Given the description of an element on the screen output the (x, y) to click on. 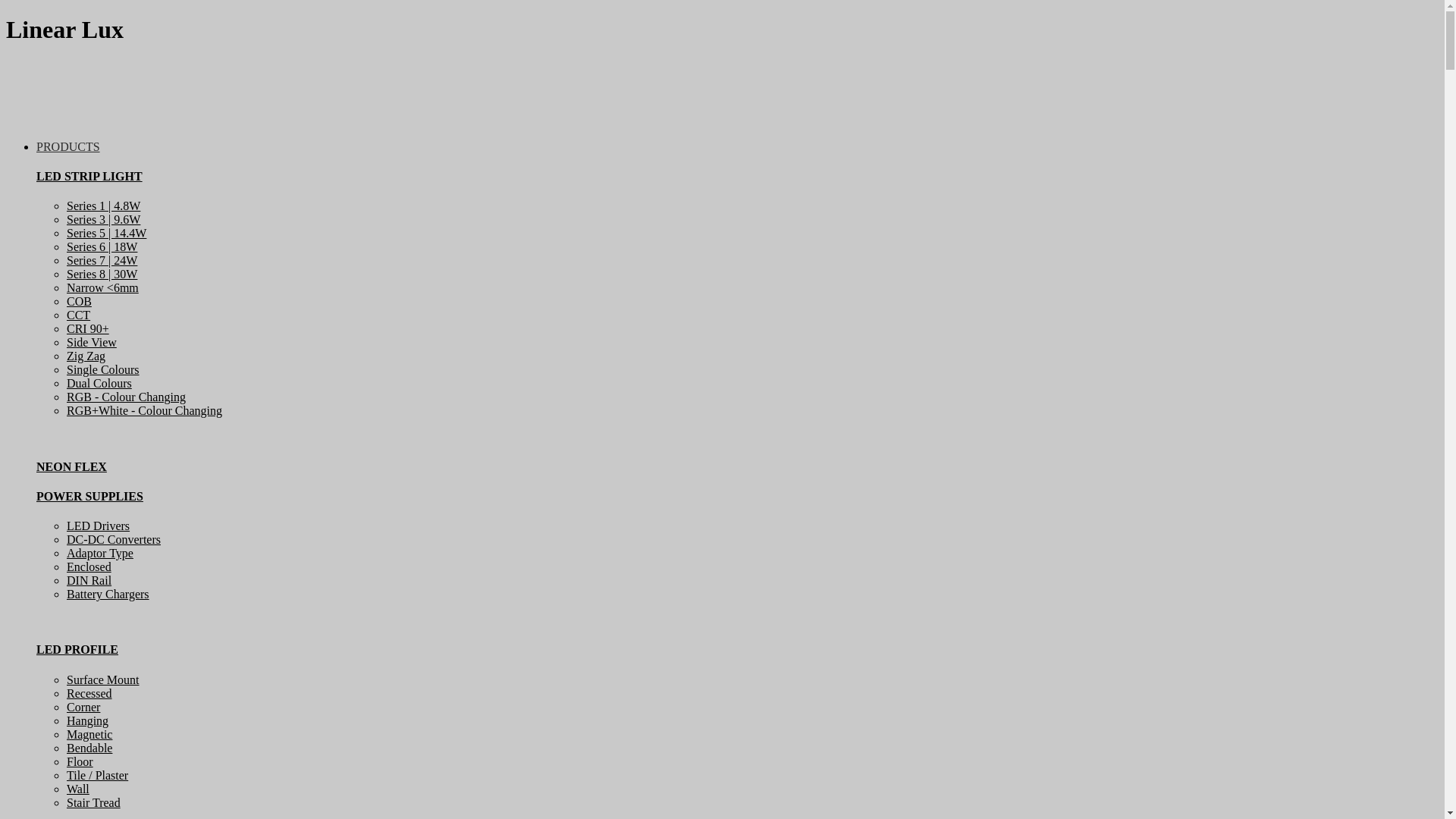
Adaptor Type Element type: text (99, 552)
Stair Tread Element type: text (93, 802)
Magnetic Element type: text (89, 734)
Dual Colours Element type: text (98, 382)
LED Drivers Element type: text (97, 525)
Enclosed Element type: text (88, 566)
Battery Chargers Element type: text (107, 593)
LED PROFILE Element type: text (77, 649)
Surface Mount Element type: text (102, 679)
RGB+White - Colour Changing Element type: text (144, 410)
Corner Element type: text (83, 706)
Bendable Element type: text (89, 747)
Narrow <6mm Element type: text (102, 287)
Side View Element type: text (91, 341)
Series 8 | 30W Element type: text (101, 273)
LED STRIP LIGHT Element type: text (89, 175)
Single Colours Element type: text (102, 369)
CRI 90+ Element type: text (87, 328)
CCT Element type: text (78, 314)
RGB - Colour Changing Element type: text (125, 396)
Hanging Element type: text (87, 720)
POWER SUPPLIES Element type: text (89, 495)
Floor Element type: text (79, 761)
Series 5 | 14.4W Element type: text (106, 232)
Series 7 | 24W Element type: text (101, 260)
DC-DC Converters Element type: text (113, 539)
Tile / Plaster Element type: text (97, 774)
Series 3 | 9.6W Element type: text (103, 219)
Zig Zag Element type: text (85, 355)
NEON FLEX Element type: text (71, 466)
Series 6 | 18W Element type: text (101, 246)
COB Element type: text (78, 300)
Wall Element type: text (77, 788)
Series 1 | 4.8W Element type: text (103, 205)
DIN Rail Element type: text (88, 580)
Recessed Element type: text (89, 693)
PRODUCTS Element type: text (68, 146)
